Given the description of an element on the screen output the (x, y) to click on. 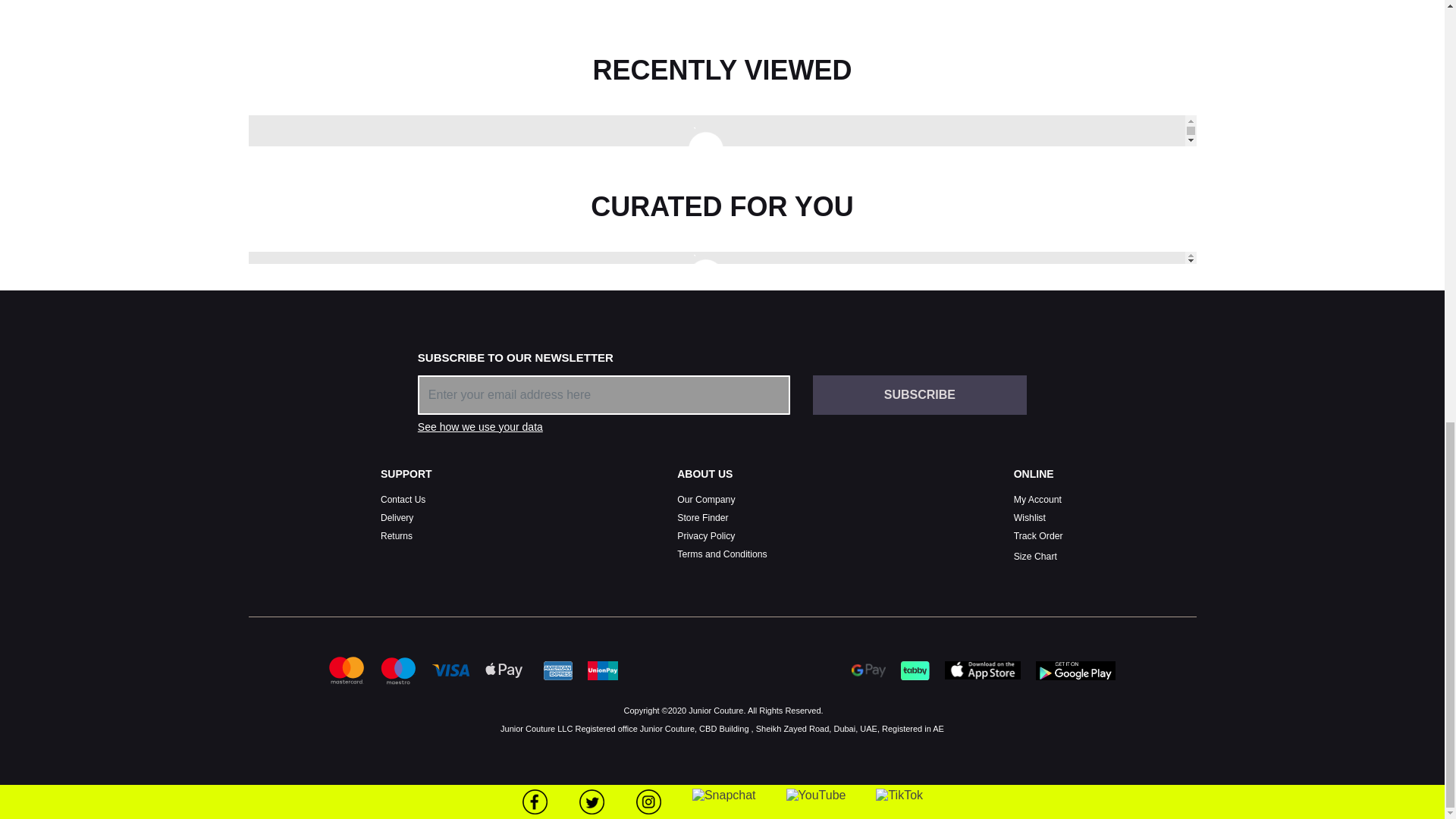
My Account (1037, 499)
Go to Store Locator (702, 517)
Go to Our Company (706, 499)
Go to Terms (722, 553)
Track Order (1037, 535)
Wishlist (1029, 517)
Go to Privacy (706, 535)
Go to Contact Us (402, 499)
